Given the description of an element on the screen output the (x, y) to click on. 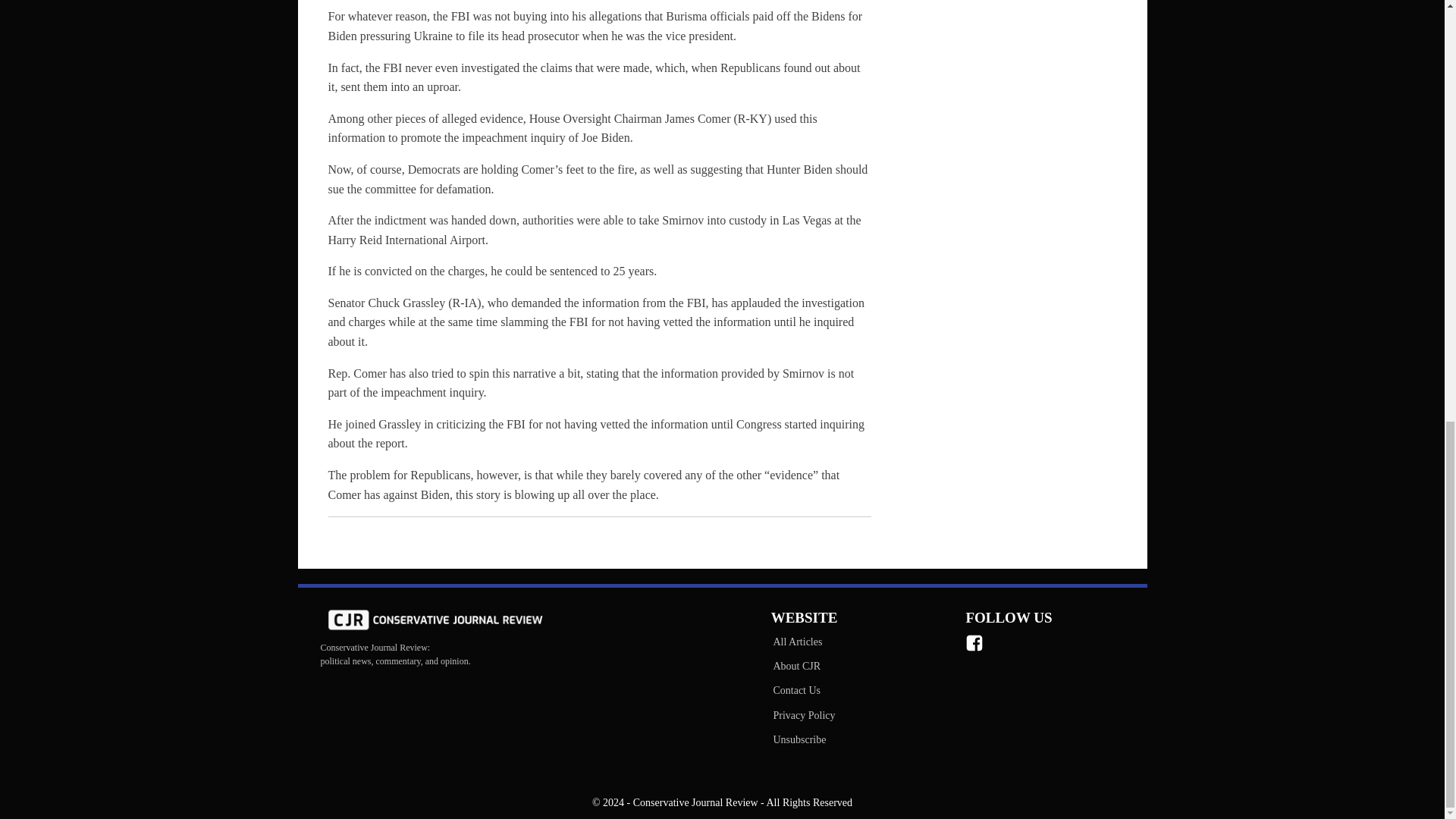
Contact Us (803, 690)
Unsubscribe (803, 740)
Privacy Policy (803, 715)
About CJR (803, 666)
All Articles (803, 641)
